Given the description of an element on the screen output the (x, y) to click on. 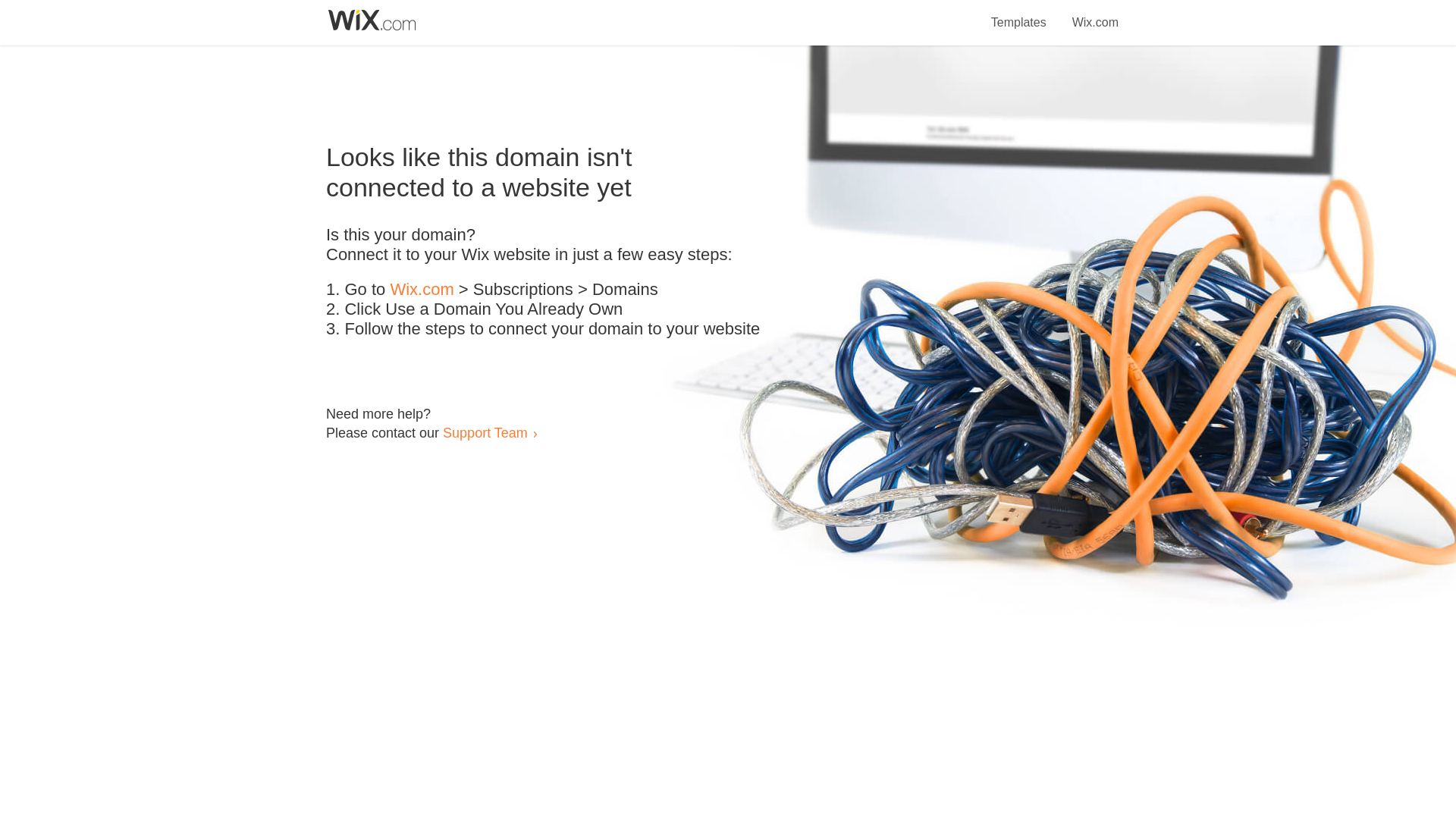
Templates (1018, 14)
Wix.com (421, 289)
Wix.com (1095, 14)
Support Team (484, 432)
